Given the description of an element on the screen output the (x, y) to click on. 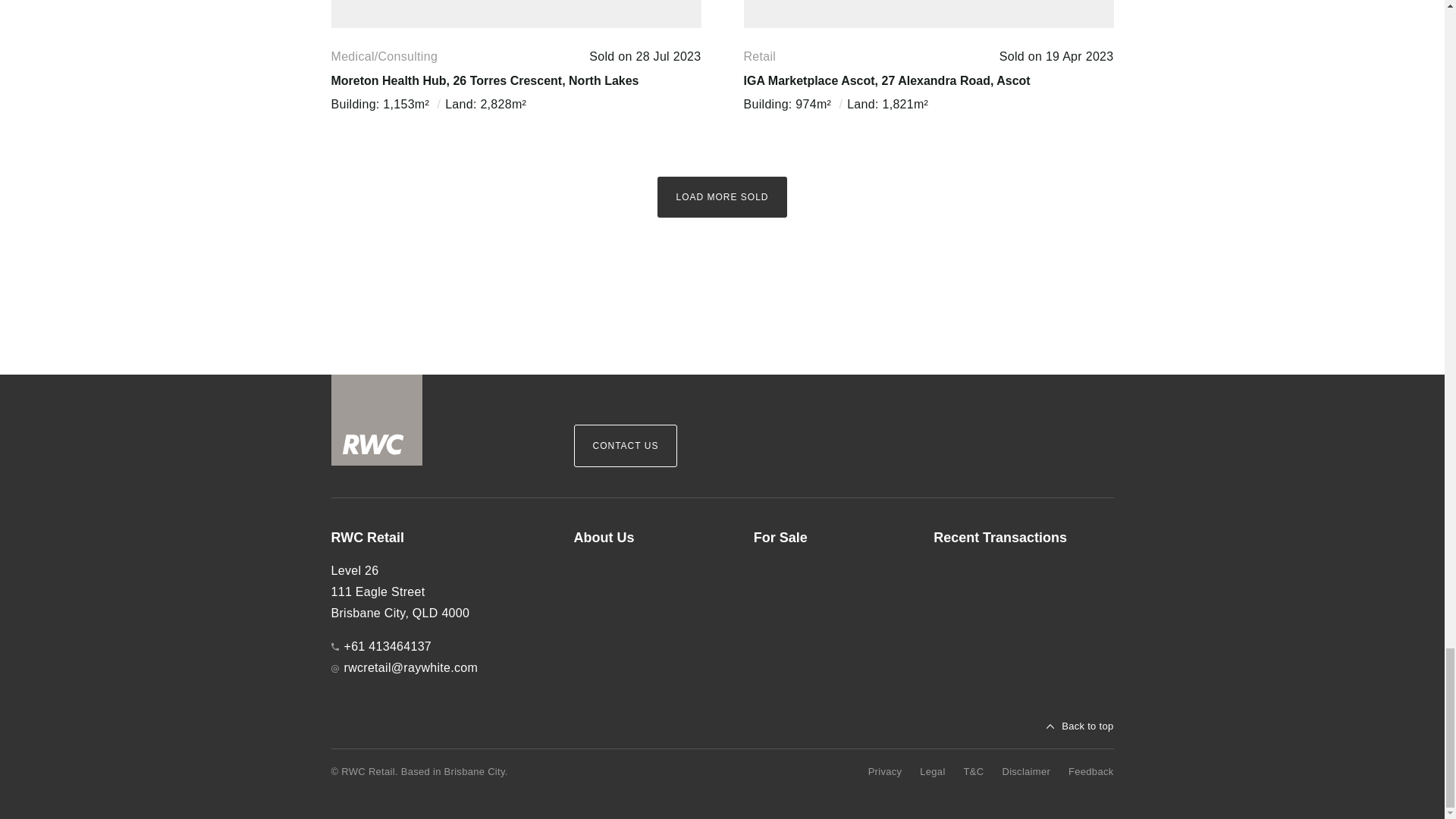
SOLD (515, 13)
IGA Marketplace Ascot, 27 Alexandra Road, Ascot (885, 80)
Moreton Health Hub, 26 Torres Crescent, North Lakes (484, 80)
Ray White (376, 420)
SOLD (927, 13)
LOAD MORE SOLD (722, 196)
